Given the description of an element on the screen output the (x, y) to click on. 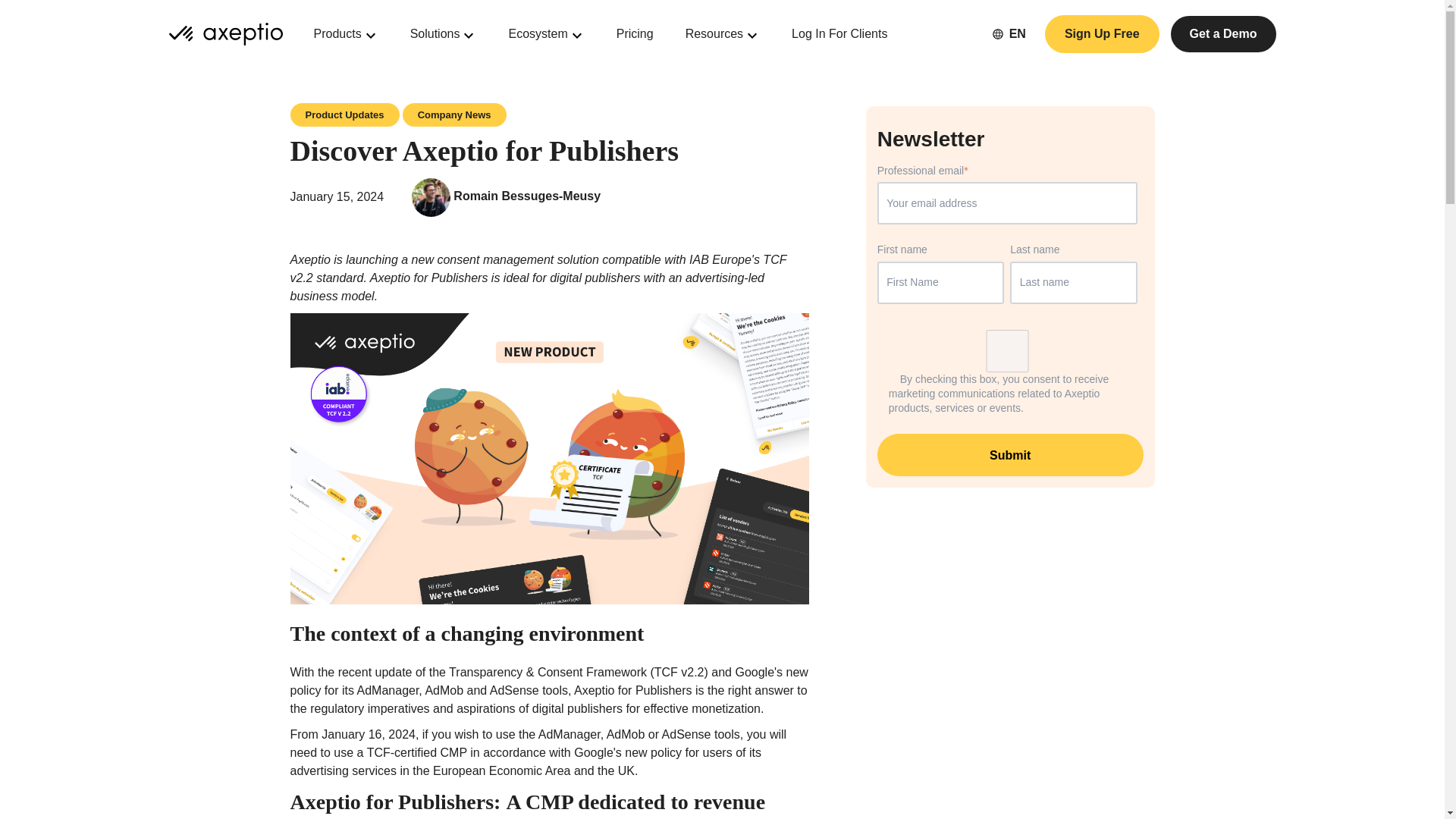
Log In For Clients (839, 34)
true (1007, 351)
Company News (454, 114)
Product Updates (343, 114)
Sign Up Free (1101, 34)
Get a Demo (1223, 33)
Pricing (634, 34)
Submit (1009, 454)
Romain Bessuges-Meusy (525, 195)
